Given the description of an element on the screen output the (x, y) to click on. 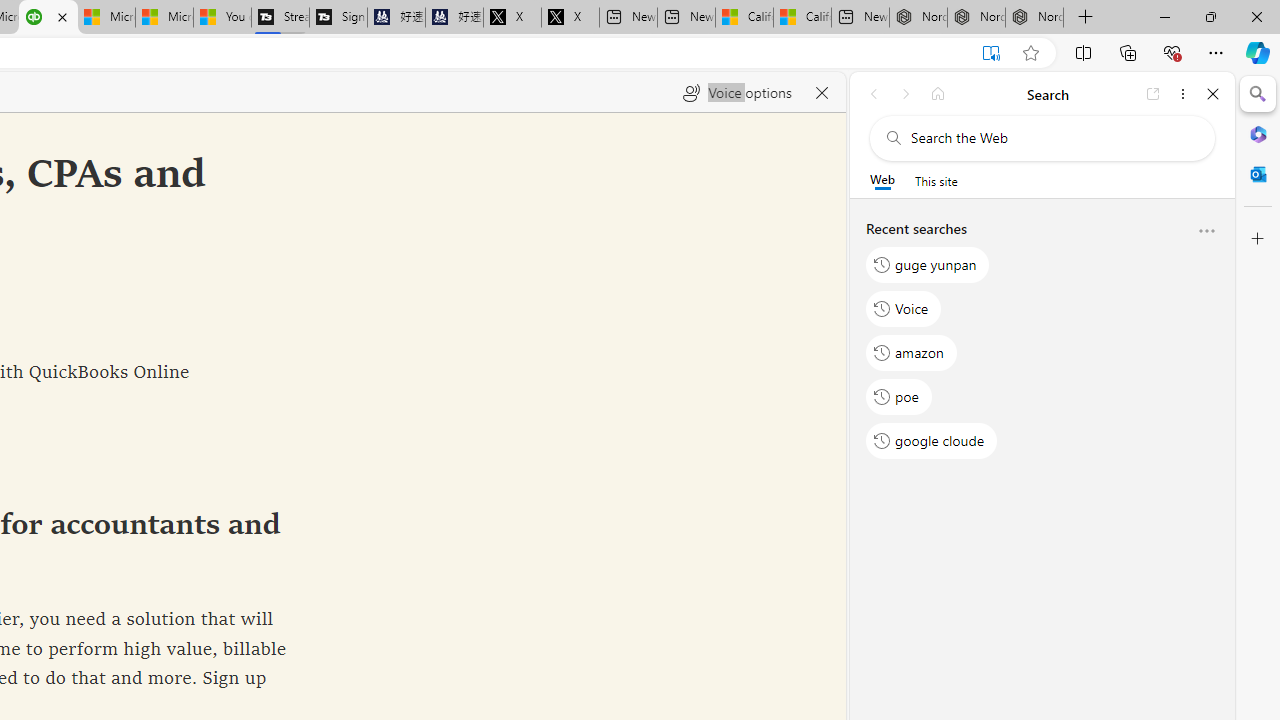
google cloude (931, 441)
Accounting Software for Accountants, CPAs and Bookkeepers (48, 17)
Streaming Coverage | T3 (280, 17)
Outlook (1258, 174)
Search the web (1051, 137)
Home (938, 93)
Microsoft 365 (1258, 133)
amazon (911, 352)
Nordace Siena Pro 15 Backpack (976, 17)
Recent searchesguge yunpanVoiceamazonpoegoogle cloude (1042, 342)
